Given the description of an element on the screen output the (x, y) to click on. 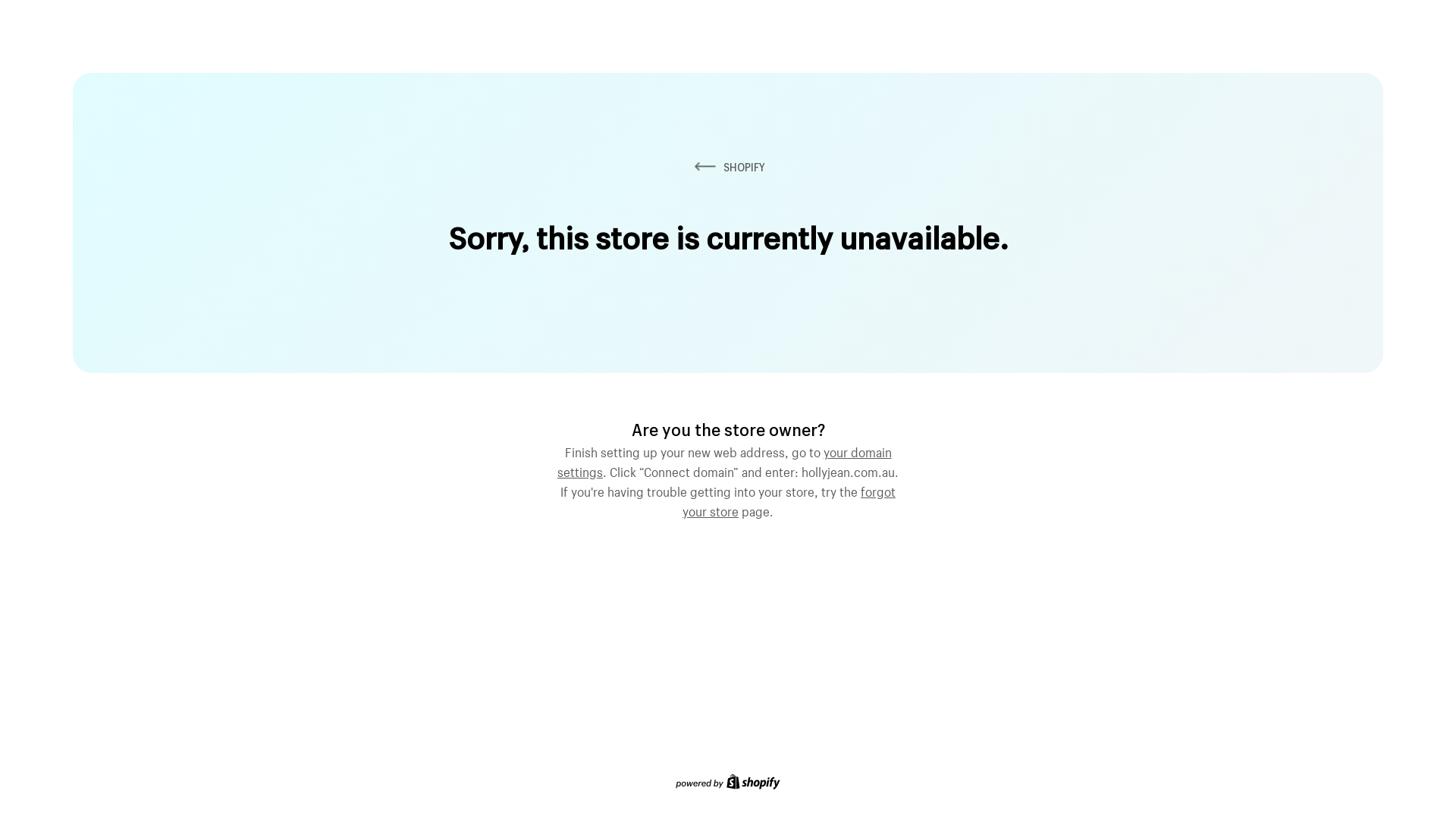
SHOPIFY Element type: text (727, 167)
forgot your store Element type: text (788, 499)
your domain settings Element type: text (724, 460)
